Given the description of an element on the screen output the (x, y) to click on. 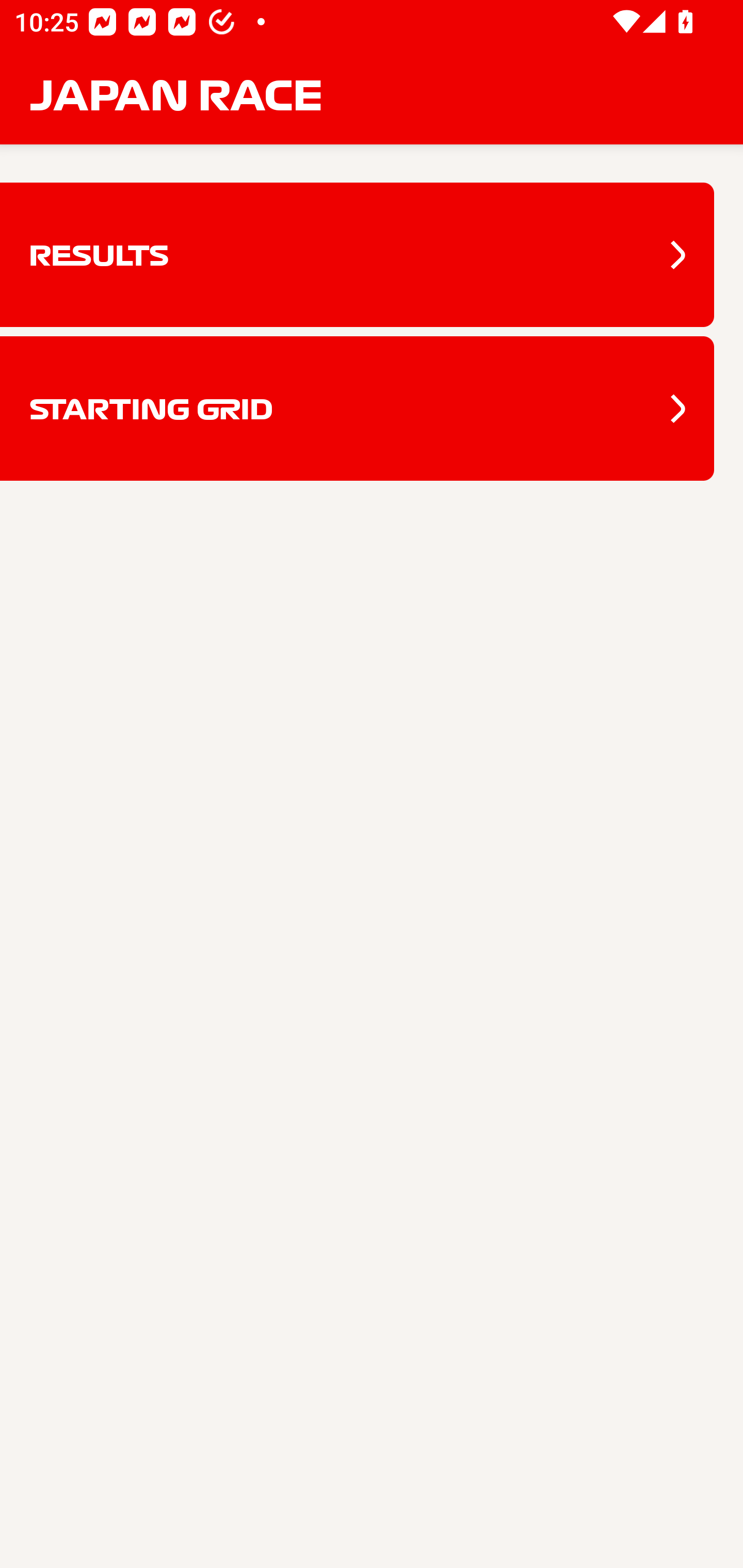
RESULTS (357, 254)
STARTING GRID (357, 408)
